Given the description of an element on the screen output the (x, y) to click on. 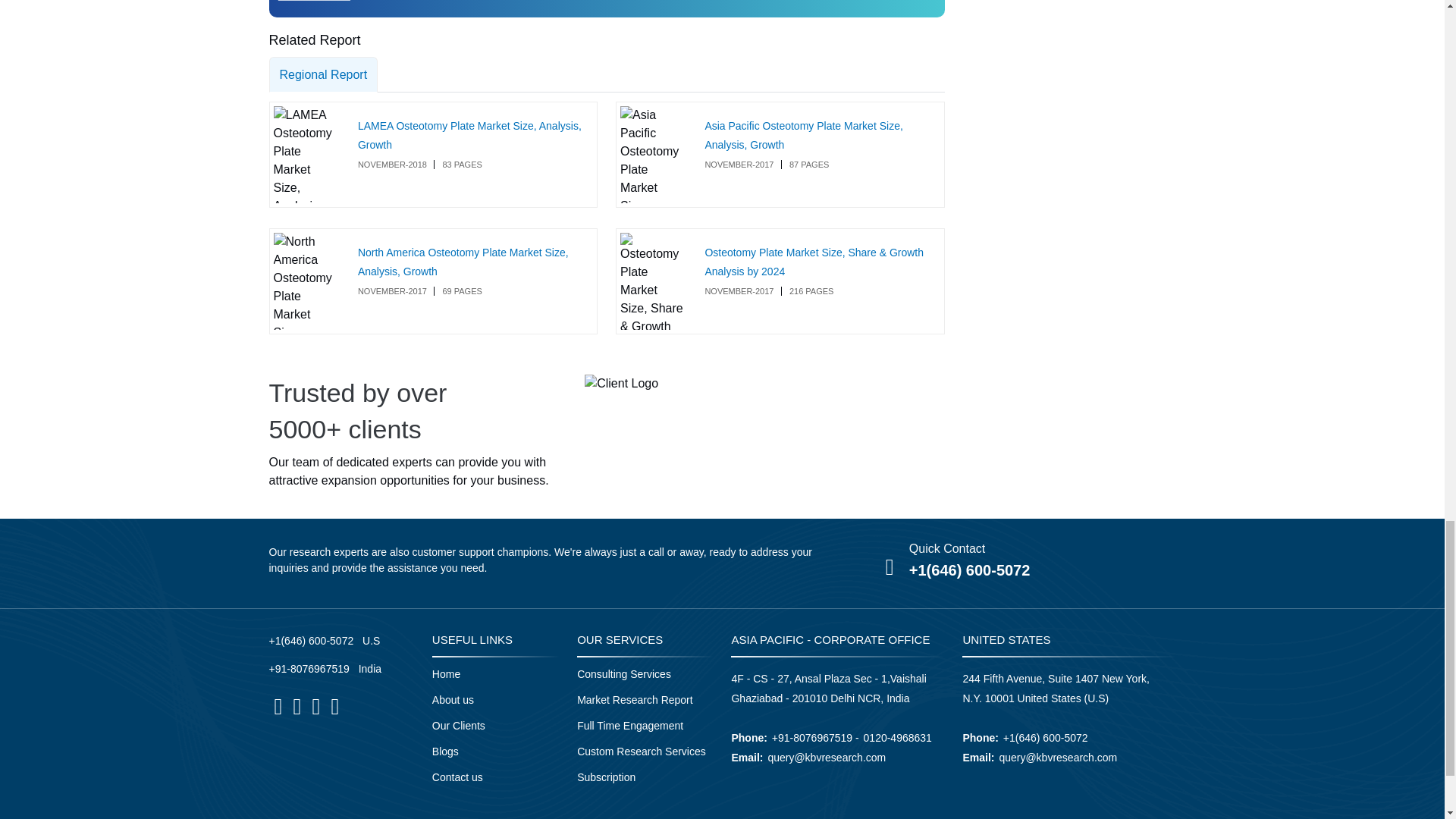
Our Clients (458, 725)
Contact us (457, 777)
Client Logo (621, 383)
Blogs (445, 751)
Asia Pacific Osteotomy Plate Market Size, Analysis, Growth (803, 134)
LAMEA Osteotomy Plate Market Size, Analysis, Growth (469, 134)
Home (446, 674)
About us (453, 699)
North America Osteotomy Plate Market Size, Analysis, Growth (463, 261)
